Given the description of an element on the screen output the (x, y) to click on. 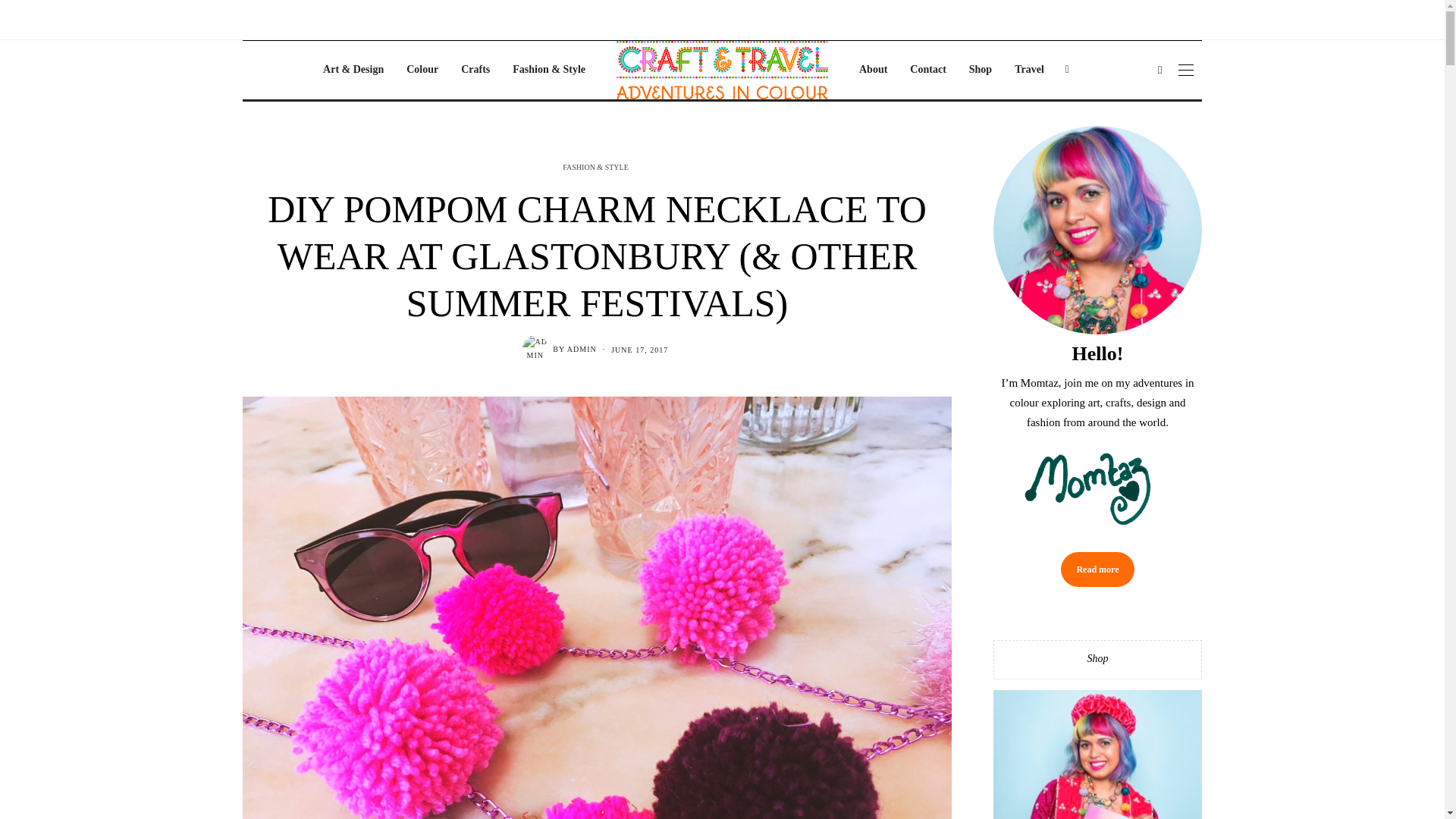
Crafts (474, 69)
Colour (421, 69)
ADMIN (581, 348)
Travel (1029, 69)
About (872, 69)
Contact (927, 69)
JUNE 17, 2017 (639, 349)
Posts by admin (534, 348)
signature (1097, 490)
Posts by admin (581, 348)
